Given the description of an element on the screen output the (x, y) to click on. 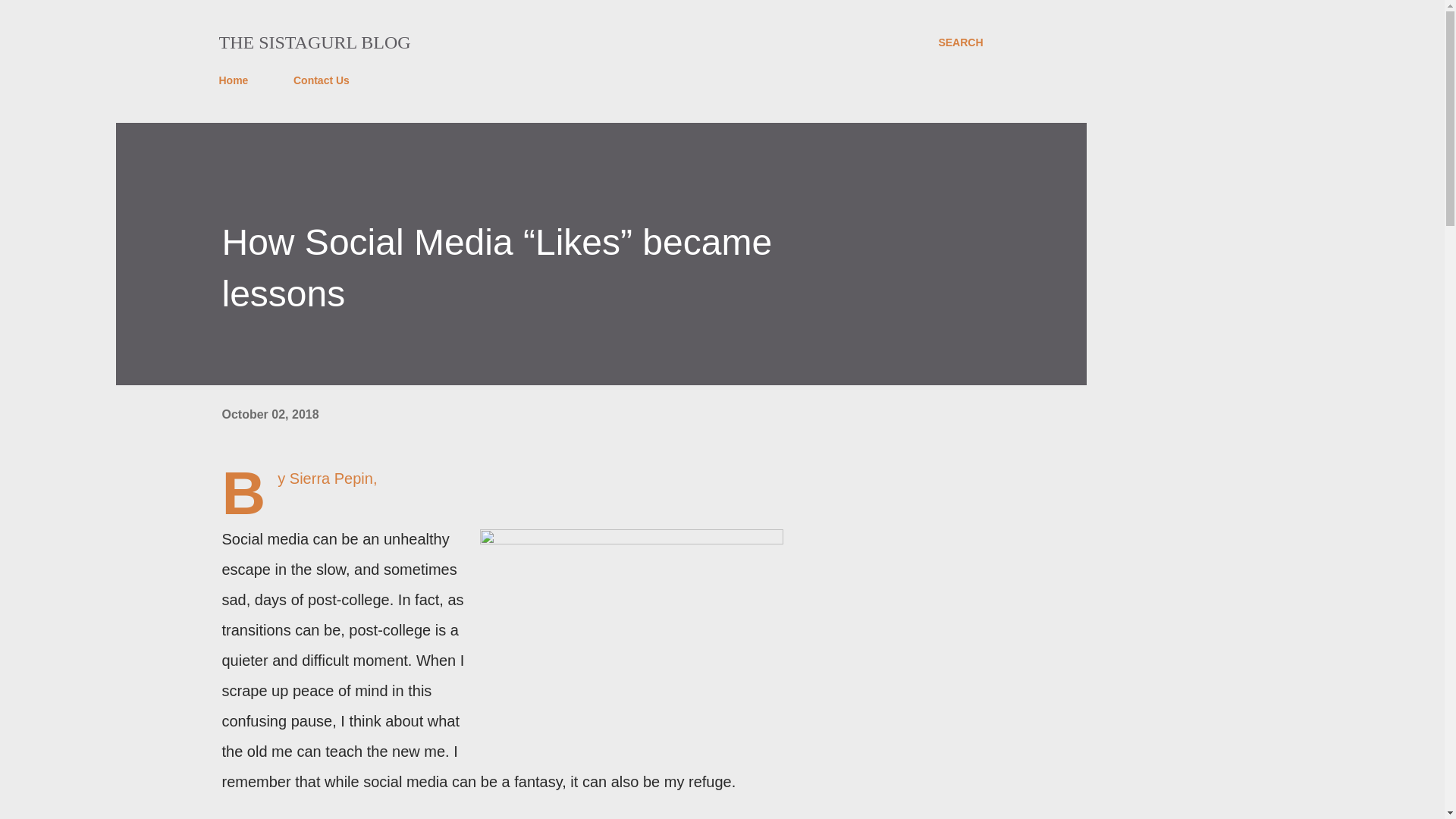
permanent link (269, 413)
Home (237, 80)
THE SISTAGURL BLOG (314, 42)
October 02, 2018 (269, 413)
Contact Us (320, 80)
SEARCH (959, 42)
